Given the description of an element on the screen output the (x, y) to click on. 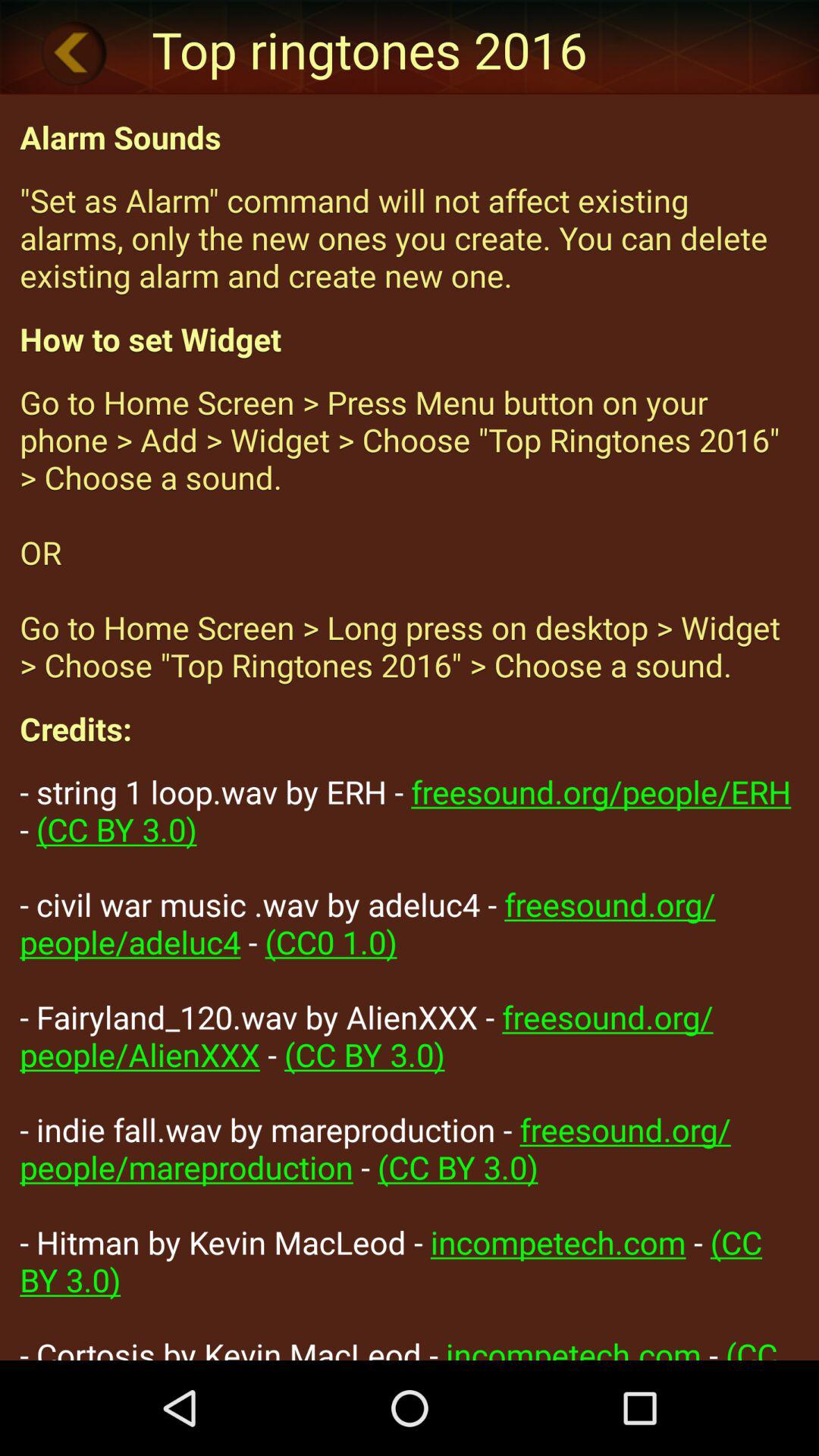
select the item to the left of the top ringtones 2016 app (73, 52)
